Given the description of an element on the screen output the (x, y) to click on. 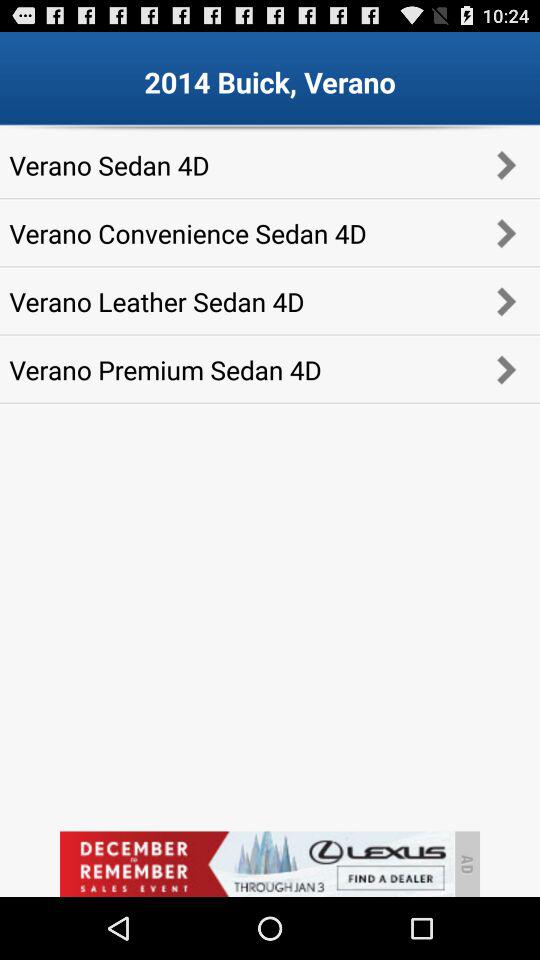
tap icon at the bottom (256, 863)
